Given the description of an element on the screen output the (x, y) to click on. 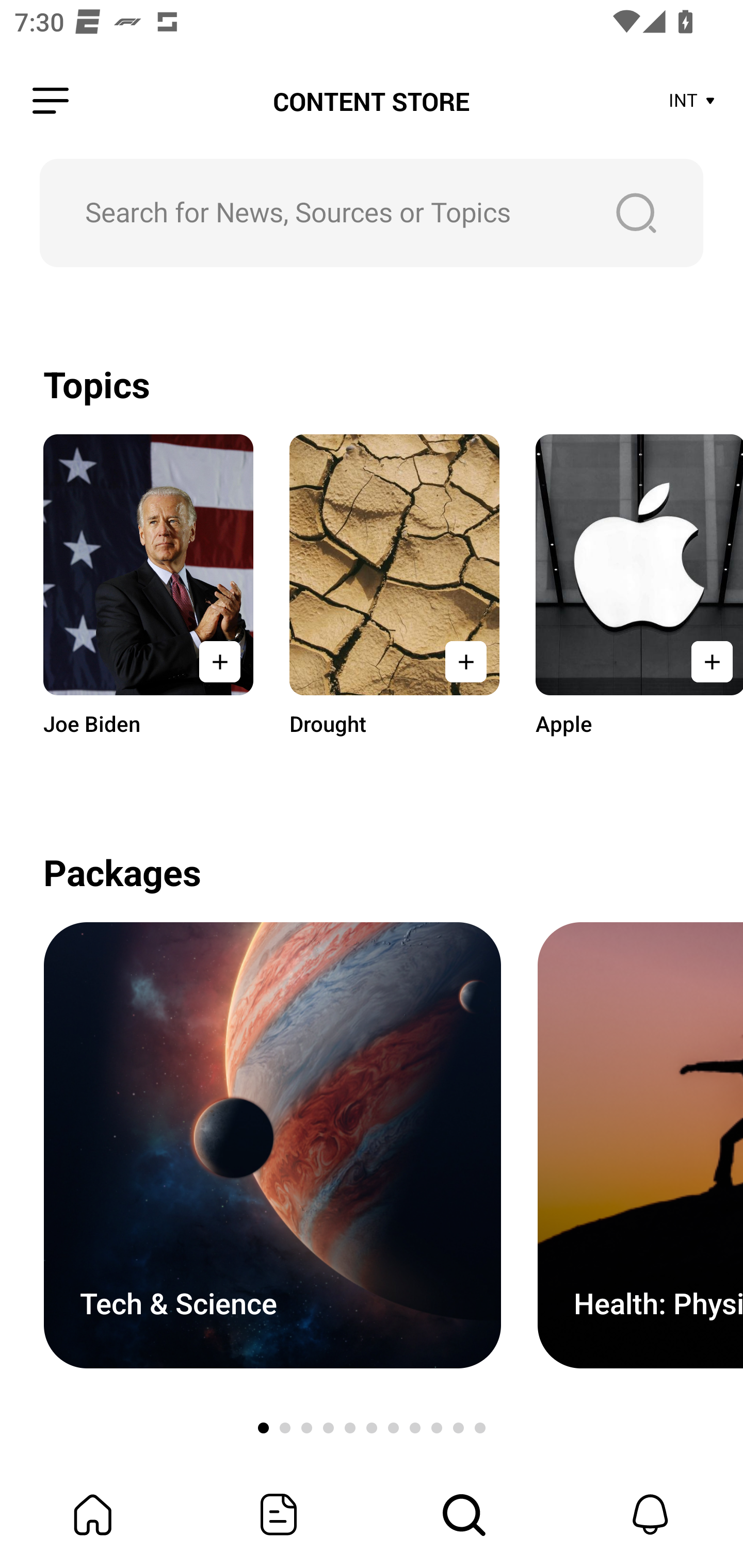
Leading Icon (50, 101)
INT Store Area (692, 101)
Search for News, Sources or Topics Search Button (371, 212)
Add To My Bundle (219, 661)
Add To My Bundle (465, 661)
Add To My Bundle (705, 661)
Content Store Discover Card Image Tech & Science (271, 1144)
My Bundle (92, 1514)
Featured (278, 1514)
Notifications (650, 1514)
